Given the description of an element on the screen output the (x, y) to click on. 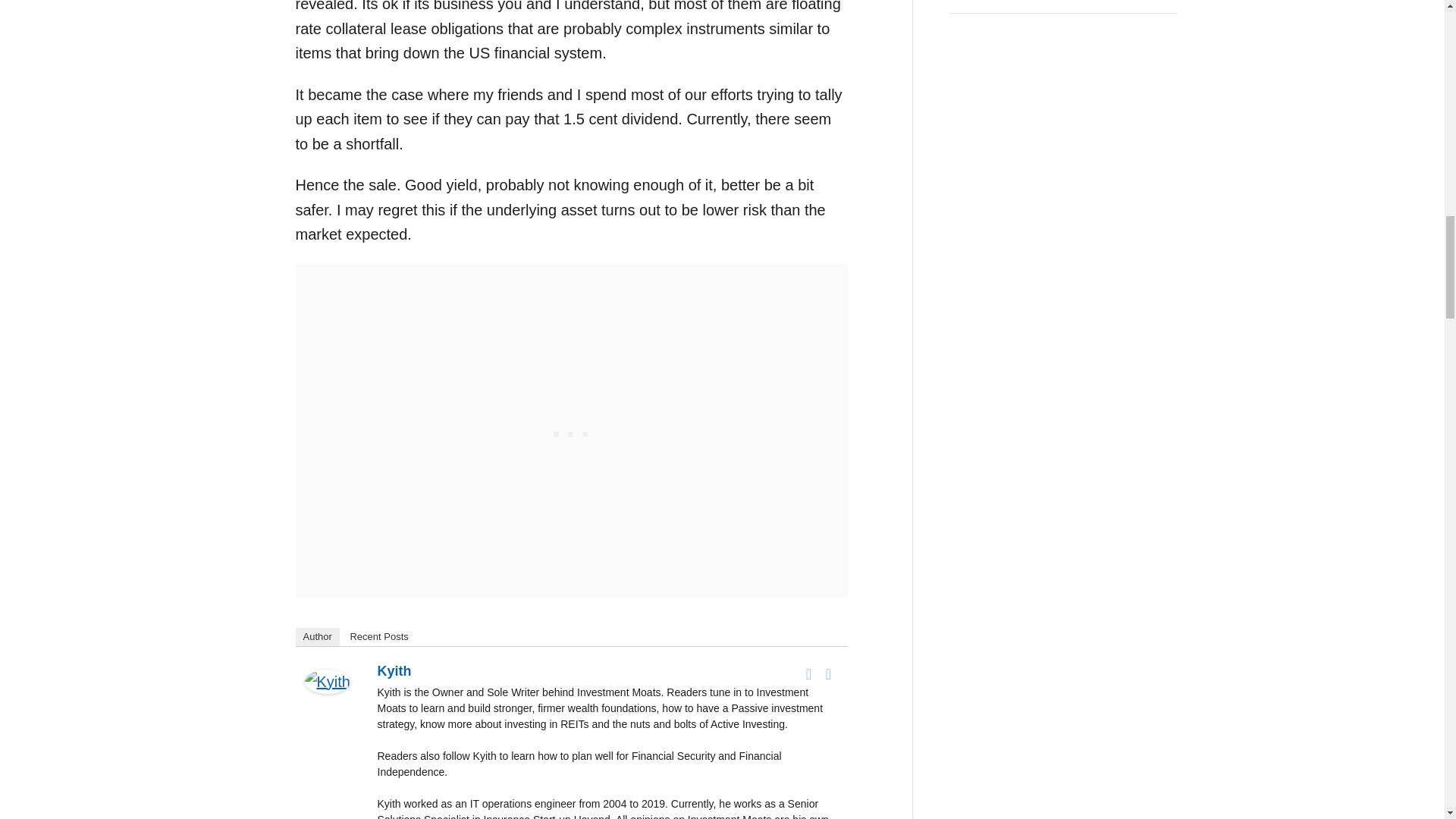
Kyith (327, 703)
Author (317, 637)
Twitter (827, 674)
Recent Posts (378, 637)
Kyith (394, 670)
Facebook (807, 674)
